Given the description of an element on the screen output the (x, y) to click on. 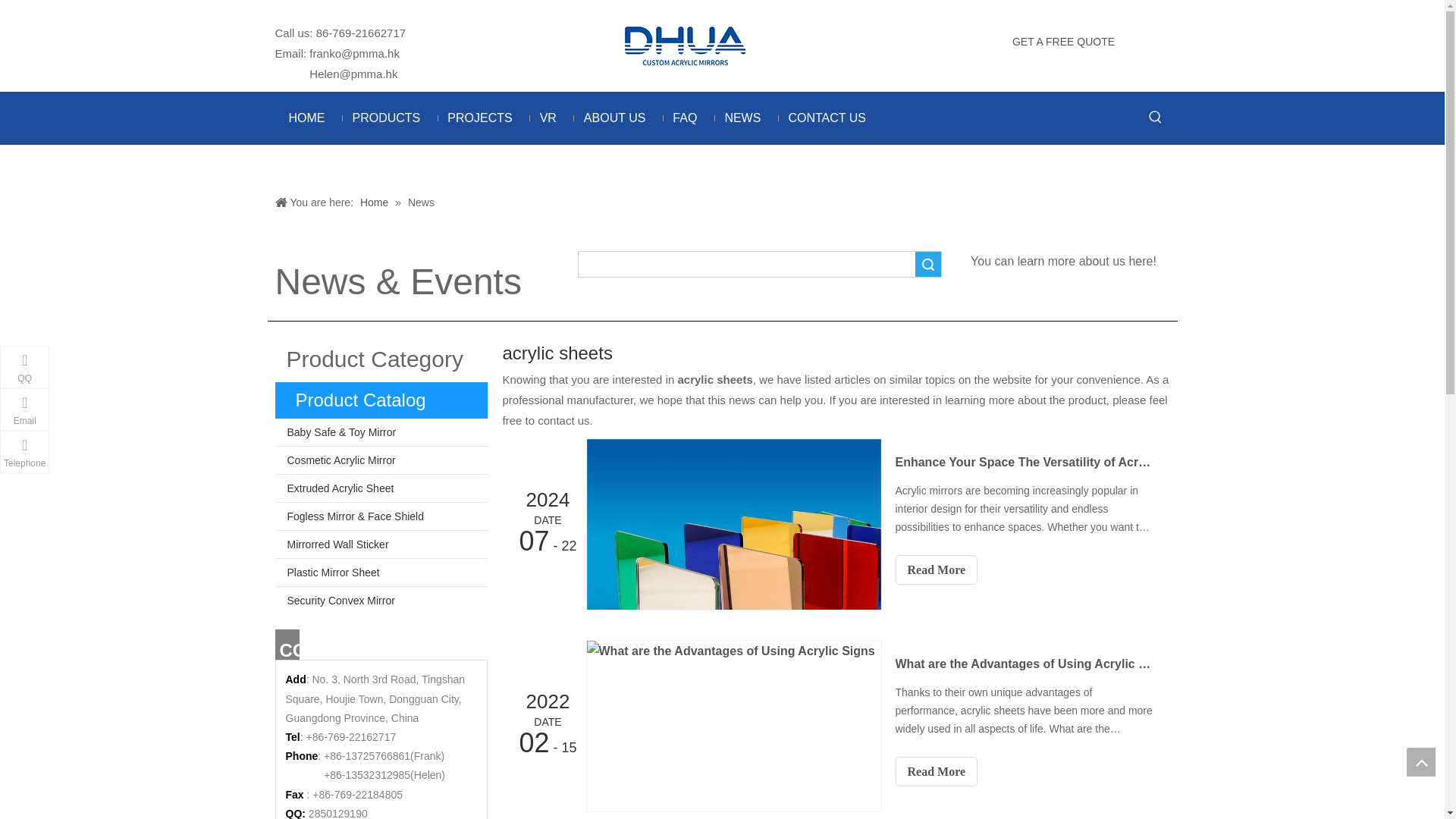
Extruded Acrylic Sheet (380, 488)
VR (547, 118)
HOME (306, 118)
Acrylic mirror, pmma mirror, acrylic mirror sheet (684, 43)
NEWS (742, 118)
Security Convex Mirror (380, 600)
CONTACT US (826, 118)
ABOUT US (614, 118)
Plastic Mirror Sheet (380, 572)
PRODUCTS (385, 118)
